Given the description of an element on the screen output the (x, y) to click on. 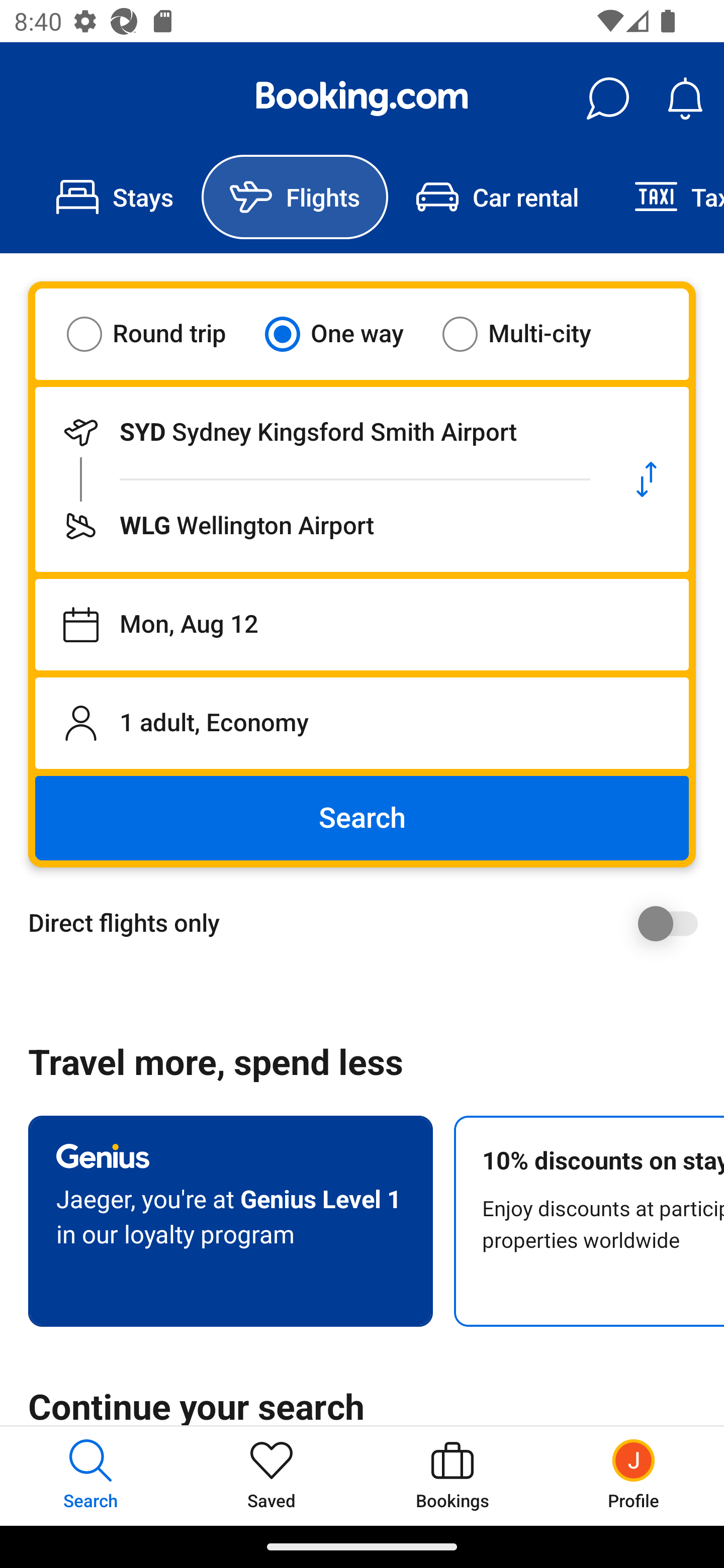
Messages (607, 98)
Notifications (685, 98)
Stays (114, 197)
Flights (294, 197)
Car rental (497, 197)
Taxi (665, 197)
Round trip (158, 333)
Multi-city (528, 333)
Departing from SYD Sydney Kingsford Smith Airport (319, 432)
Swap departure location and destination (646, 479)
Flying to WLG Wellington Airport (319, 525)
Departing on Mon, Aug 12 (361, 624)
1 adult, Economy (361, 722)
Search (361, 818)
Direct flights only (369, 923)
Saved (271, 1475)
Bookings (452, 1475)
Profile (633, 1475)
